Given the description of an element on the screen output the (x, y) to click on. 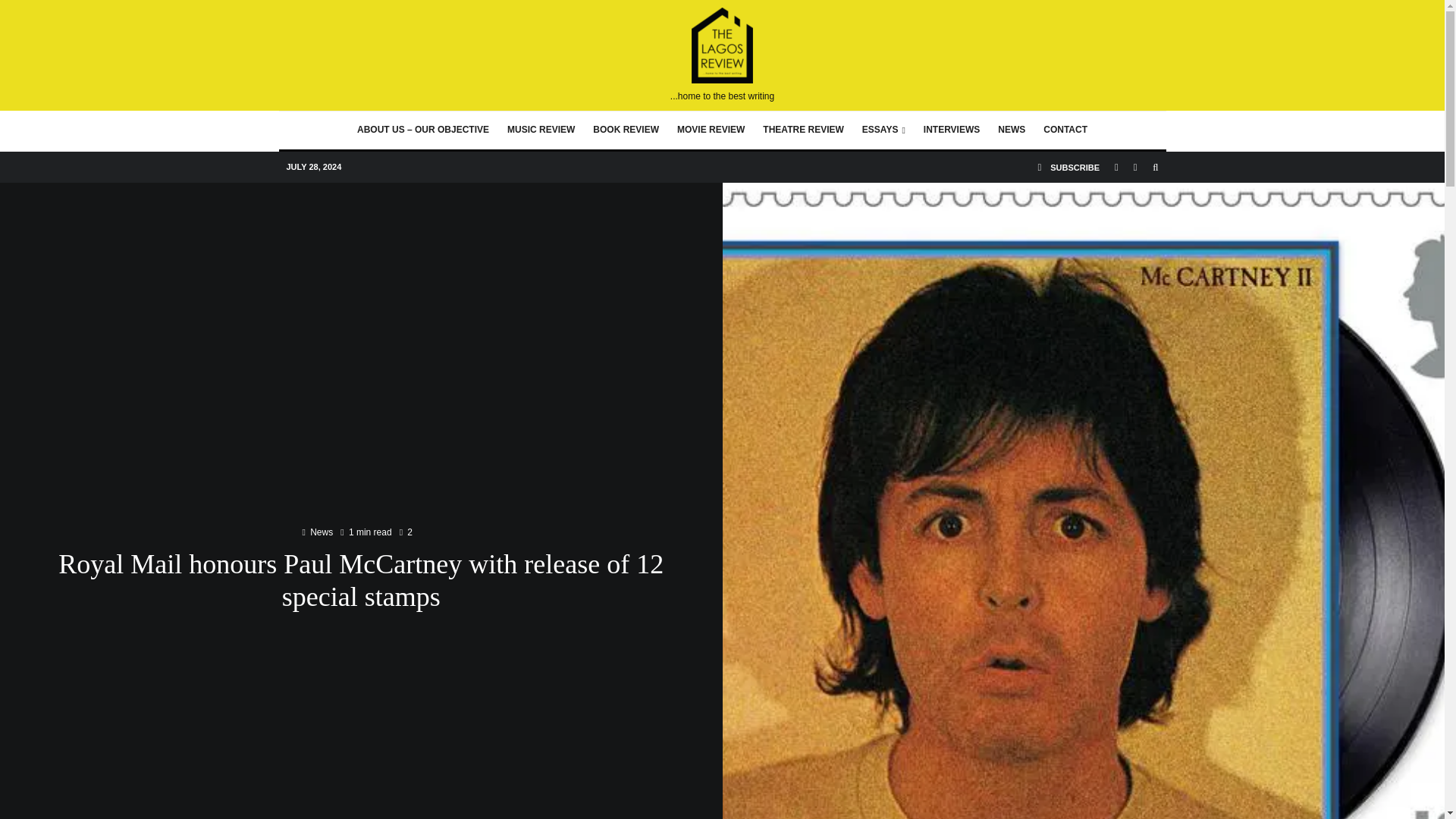
MOVIE REVIEW (711, 130)
...home to the best writing (721, 55)
MUSIC REVIEW (540, 130)
THEATRE REVIEW (802, 130)
BOOK REVIEW (625, 130)
